Given the description of an element on the screen output the (x, y) to click on. 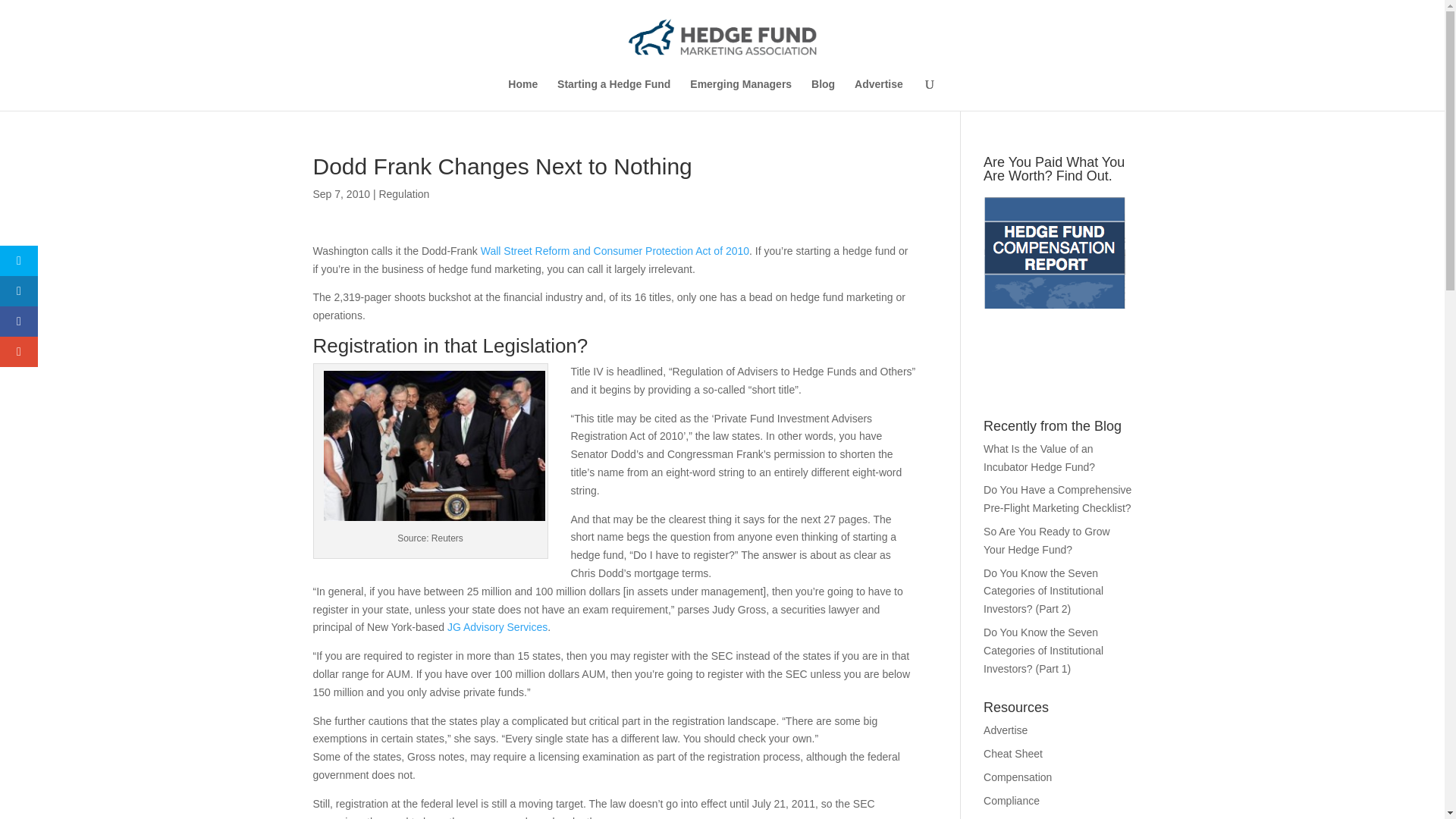
So Are You Ready to Grow Your Hedge Fund? (1046, 540)
Regulation (403, 193)
Home (522, 94)
Due Diligence (1016, 818)
Advertise (1005, 729)
Advertise on this Site (1005, 729)
Advertise (878, 94)
Cheat Sheet (1013, 753)
Wall Street Reform and Consumer Protection Act of 2010 (614, 250)
Compliance (1011, 800)
Compensation (1017, 776)
Emerging Managers (741, 94)
Do You Have a Comprehensive Pre-Flight Marketing Checklist? (1057, 499)
What Is the Value of an Incubator Hedge Fund? (1039, 458)
dodd-frank-reuters (433, 445)
